Given the description of an element on the screen output the (x, y) to click on. 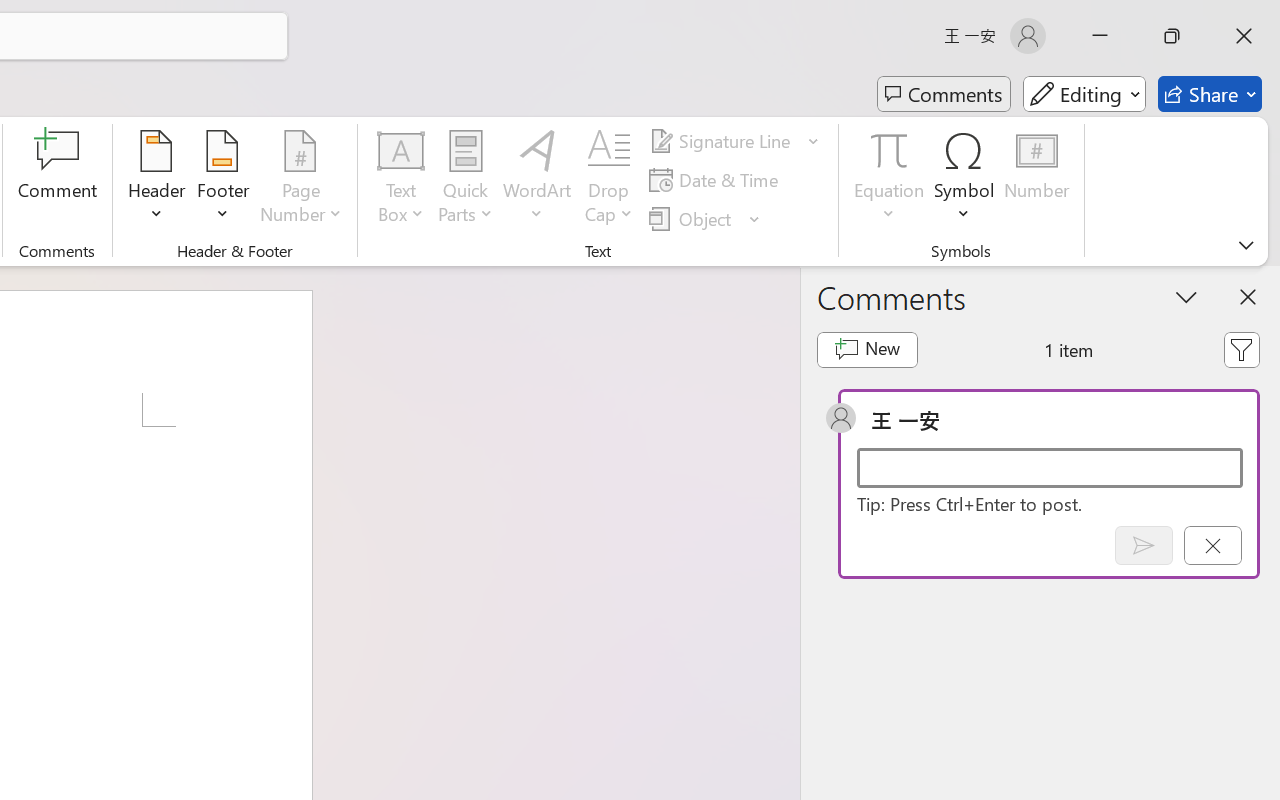
Cancel (1212, 545)
Equation (889, 179)
